Given the description of an element on the screen output the (x, y) to click on. 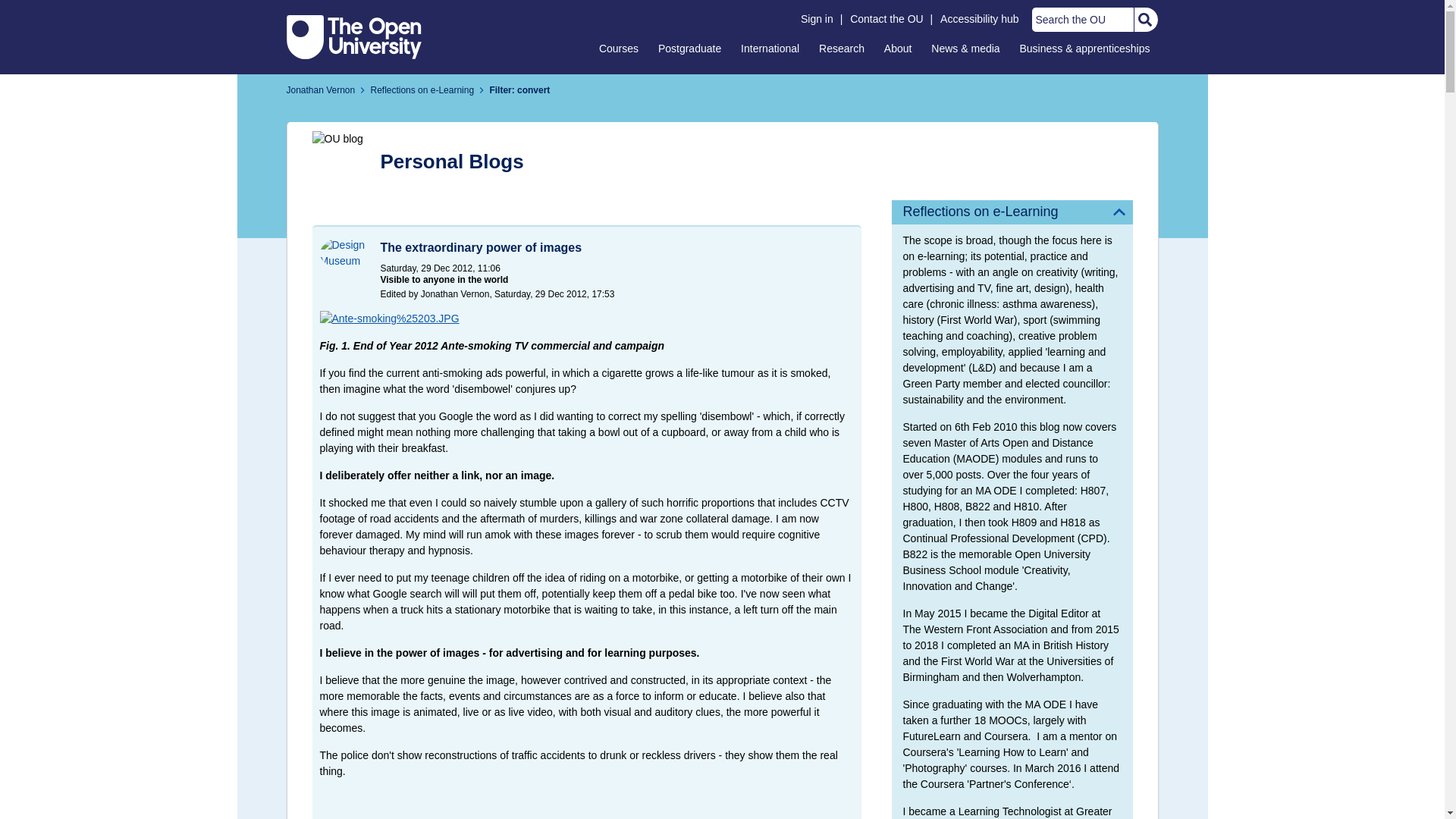
Reflections on e-Learning (1011, 211)
Postgraduate (689, 48)
The Open University (354, 36)
About (898, 48)
Search (1144, 19)
Sign in (816, 19)
Search (1144, 19)
Jonathan Vernon (320, 90)
Accessibility hub (979, 19)
